Given the description of an element on the screen output the (x, y) to click on. 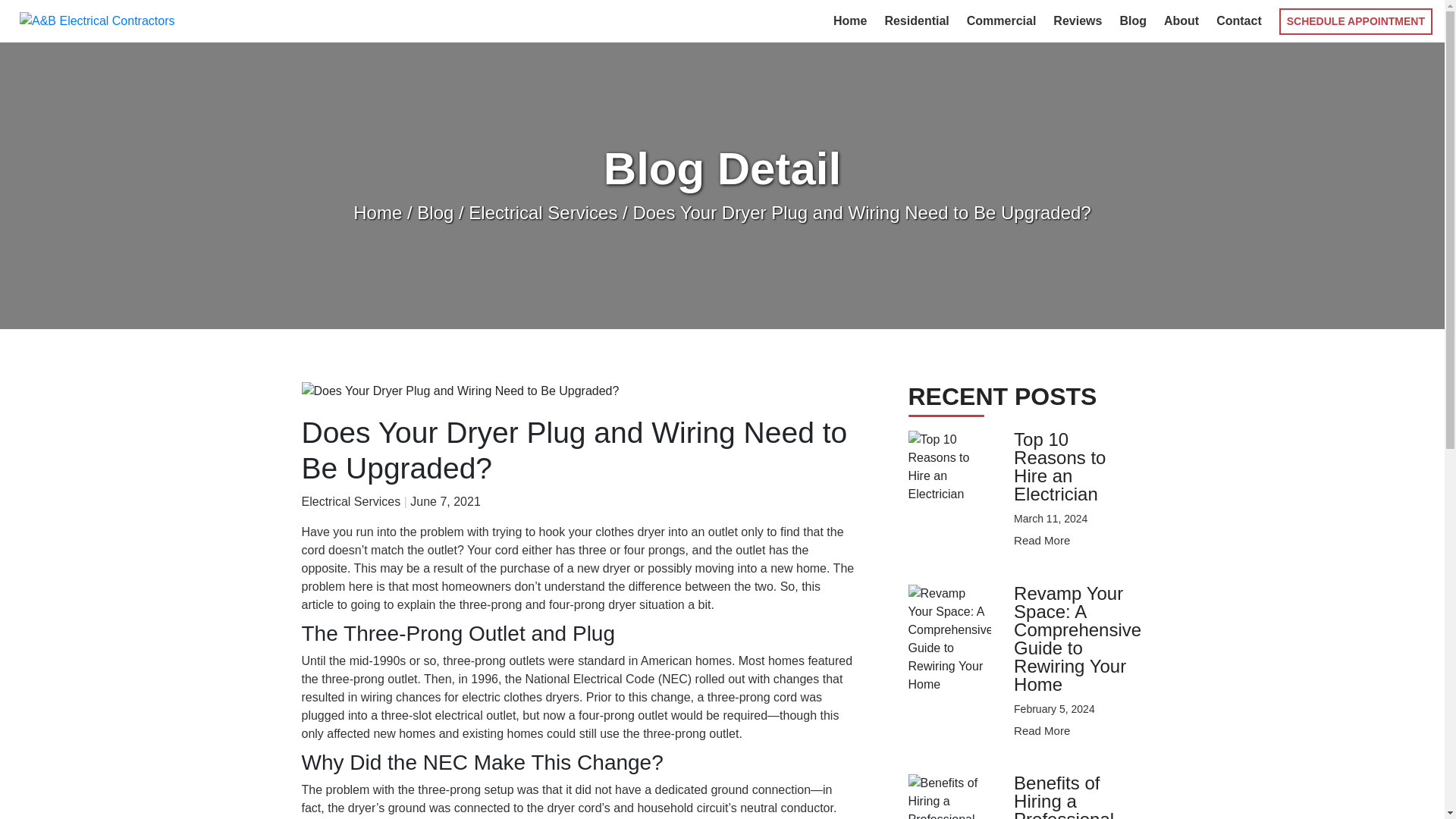
Blog (1133, 20)
SCHEDULE APPOINTMENT (1355, 20)
Contact (1238, 20)
Home (849, 20)
Read More (1041, 540)
About (1181, 20)
Residential (916, 20)
Commercial (1001, 20)
Read More (1041, 730)
Reviews (1077, 20)
